Given the description of an element on the screen output the (x, y) to click on. 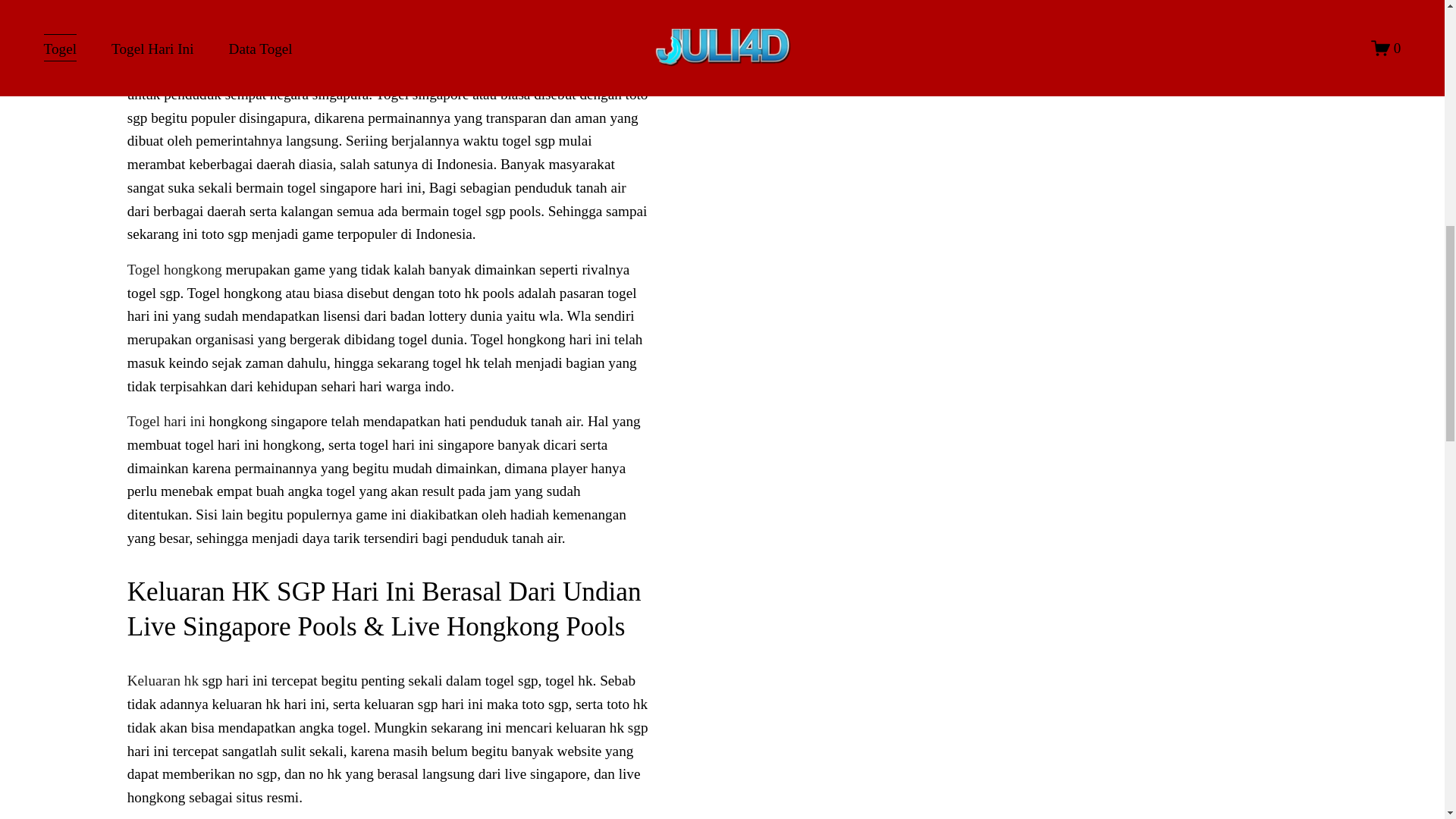
Keluaran hk (163, 680)
Togel hongkong (175, 269)
Togel hari ini (166, 421)
Togel singapore (174, 70)
